Given the description of an element on the screen output the (x, y) to click on. 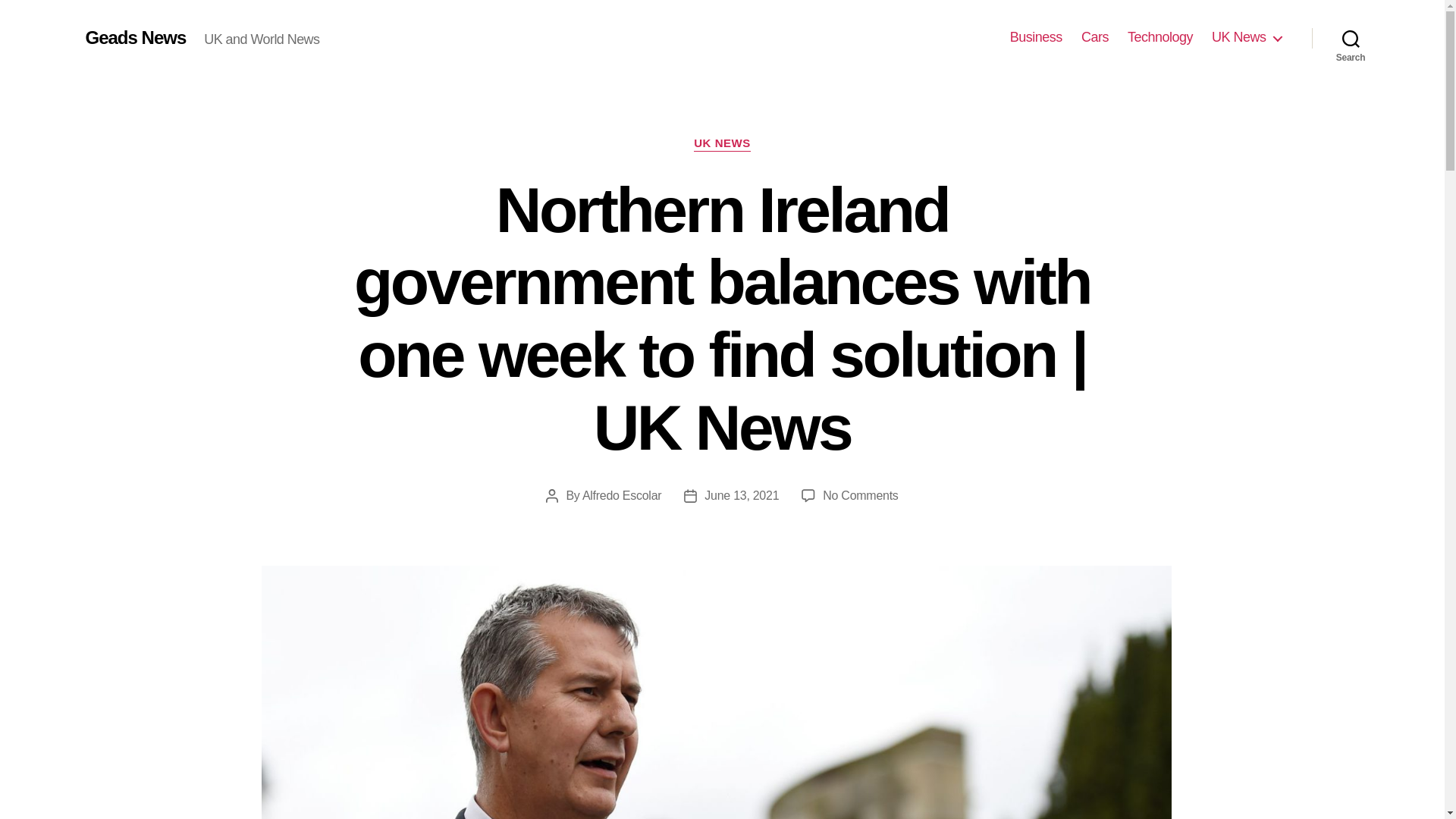
UK NEWS (722, 143)
Search (1350, 37)
Cars (1094, 37)
UK News (1246, 37)
Business (1036, 37)
Technology (1159, 37)
Alfredo Escolar (621, 495)
Geads News (135, 37)
June 13, 2021 (741, 495)
